Given the description of an element on the screen output the (x, y) to click on. 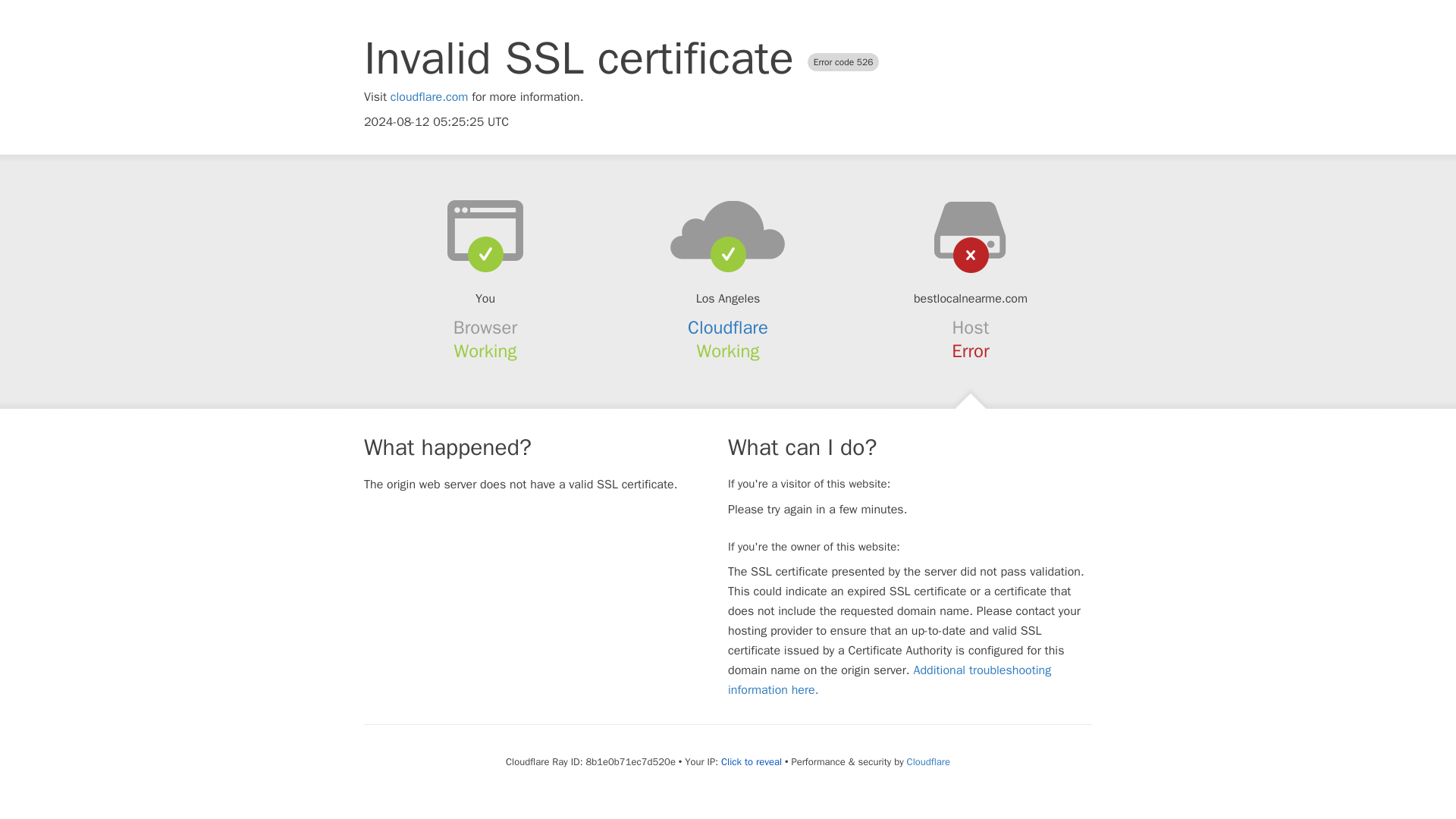
cloudflare.com (429, 96)
Additional troubleshooting information here. (889, 679)
Cloudflare (727, 327)
Click to reveal (750, 762)
Cloudflare (928, 761)
